Given the description of an element on the screen output the (x, y) to click on. 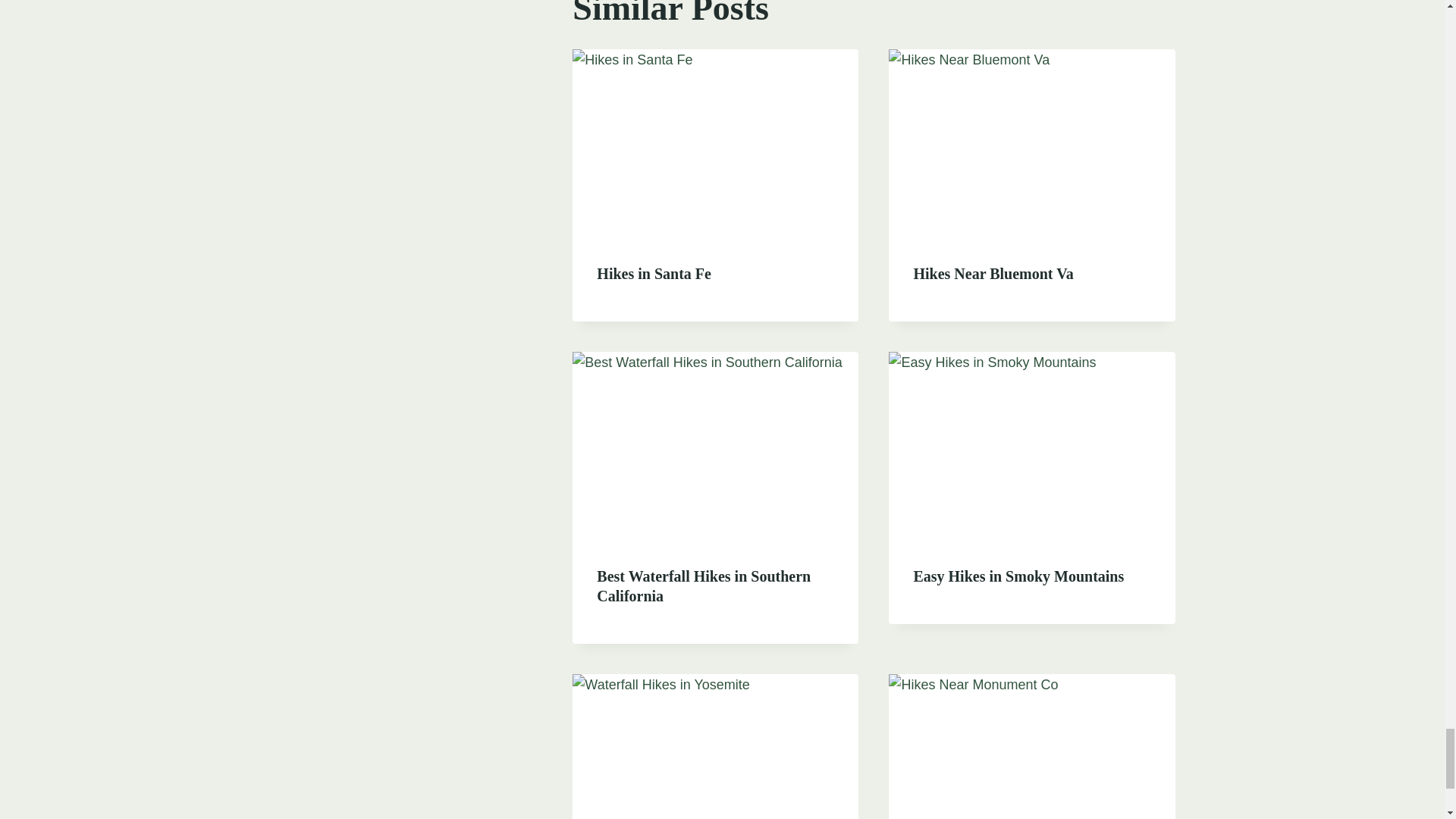
Hikes in Santa Fe (653, 273)
Hikes Near Bluemont Va (992, 273)
Best Waterfall Hikes in Southern California 4 (715, 447)
Hikes Near Bluemont Va 3 (1031, 144)
Hikes in Santa Fe 2 (715, 144)
Hikes Near Monument Co 7 (1031, 746)
Easy Hikes in Smoky Mountains 5 (1031, 447)
Waterfall Hikes in Yosemite 6 (715, 746)
